Given the description of an element on the screen output the (x, y) to click on. 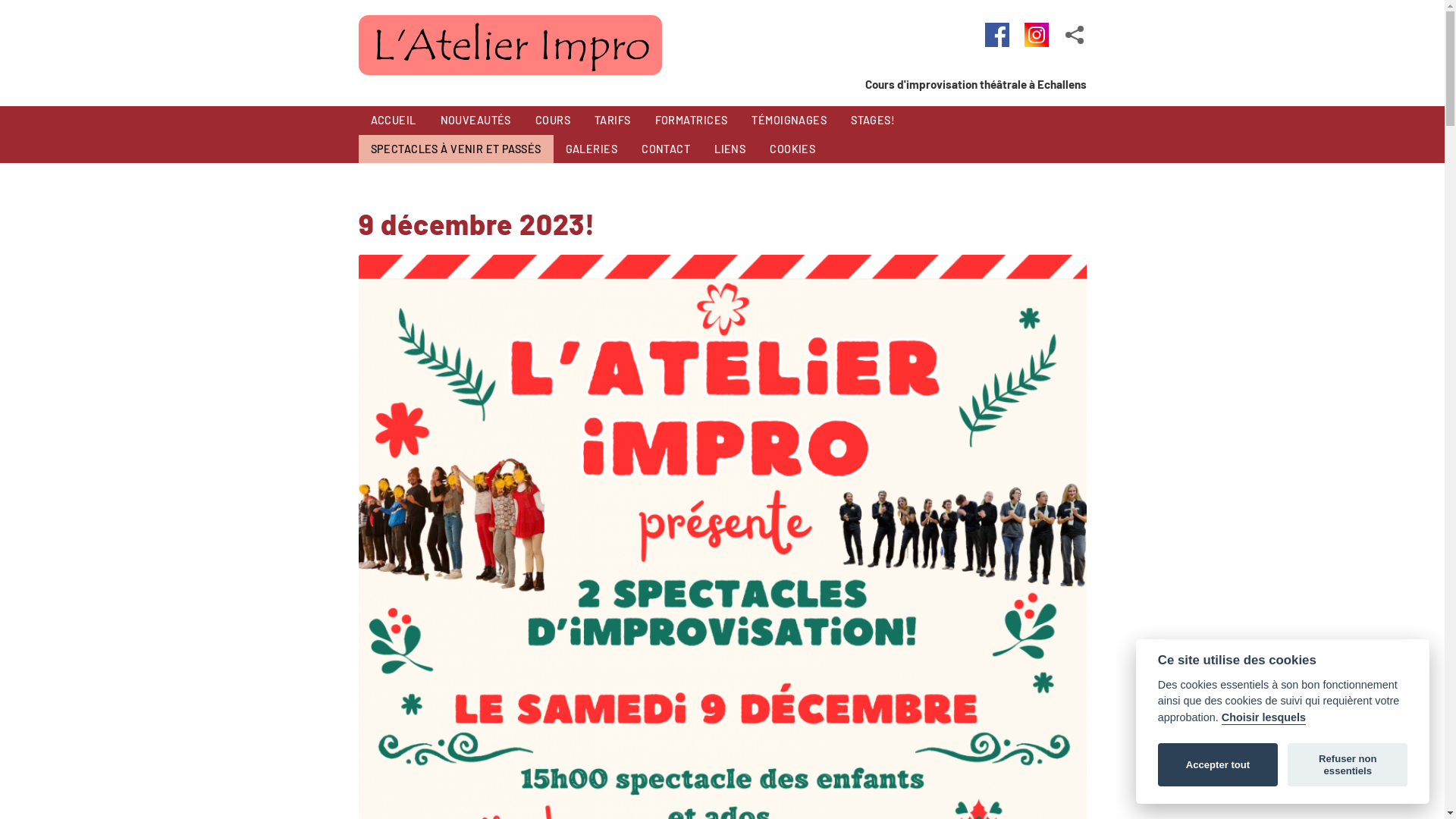
CONTACT Element type: text (665, 148)
STAGES! Element type: text (872, 120)
ACCUEIL Element type: text (392, 120)
Accepter tout Element type: text (1217, 765)
COOKIES Element type: text (792, 148)
LIENS Element type: text (729, 148)
FORMATRICES Element type: text (691, 120)
COURS Element type: text (552, 120)
Choisir lesquels Element type: text (1263, 717)
Refuser non essentiels Element type: text (1347, 765)
TARIFS Element type: text (612, 120)
GALERIES Element type: text (591, 148)
